Given the description of an element on the screen output the (x, y) to click on. 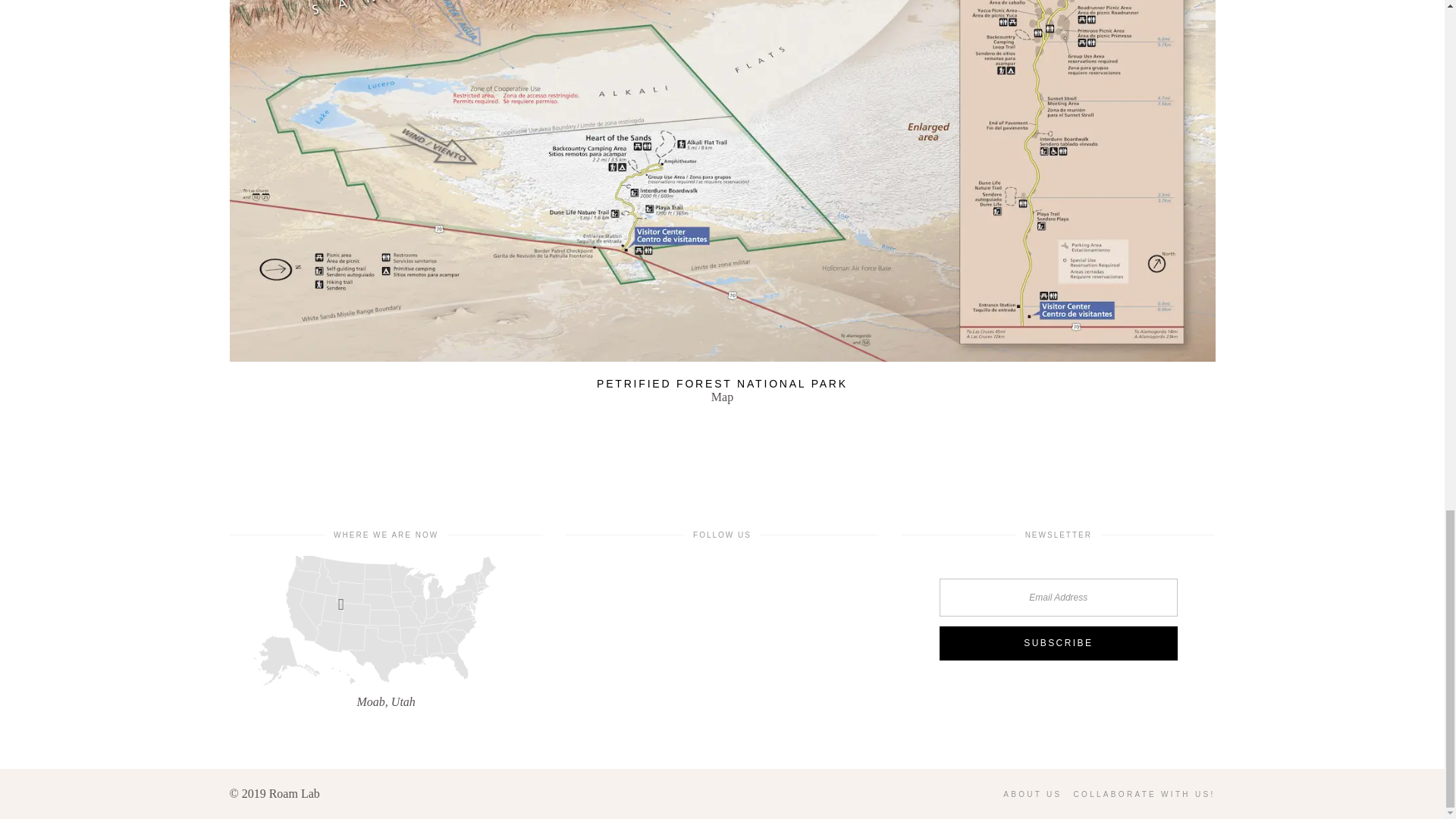
Missouri (385, 620)
Subscribe (1058, 643)
